Given the description of an element on the screen output the (x, y) to click on. 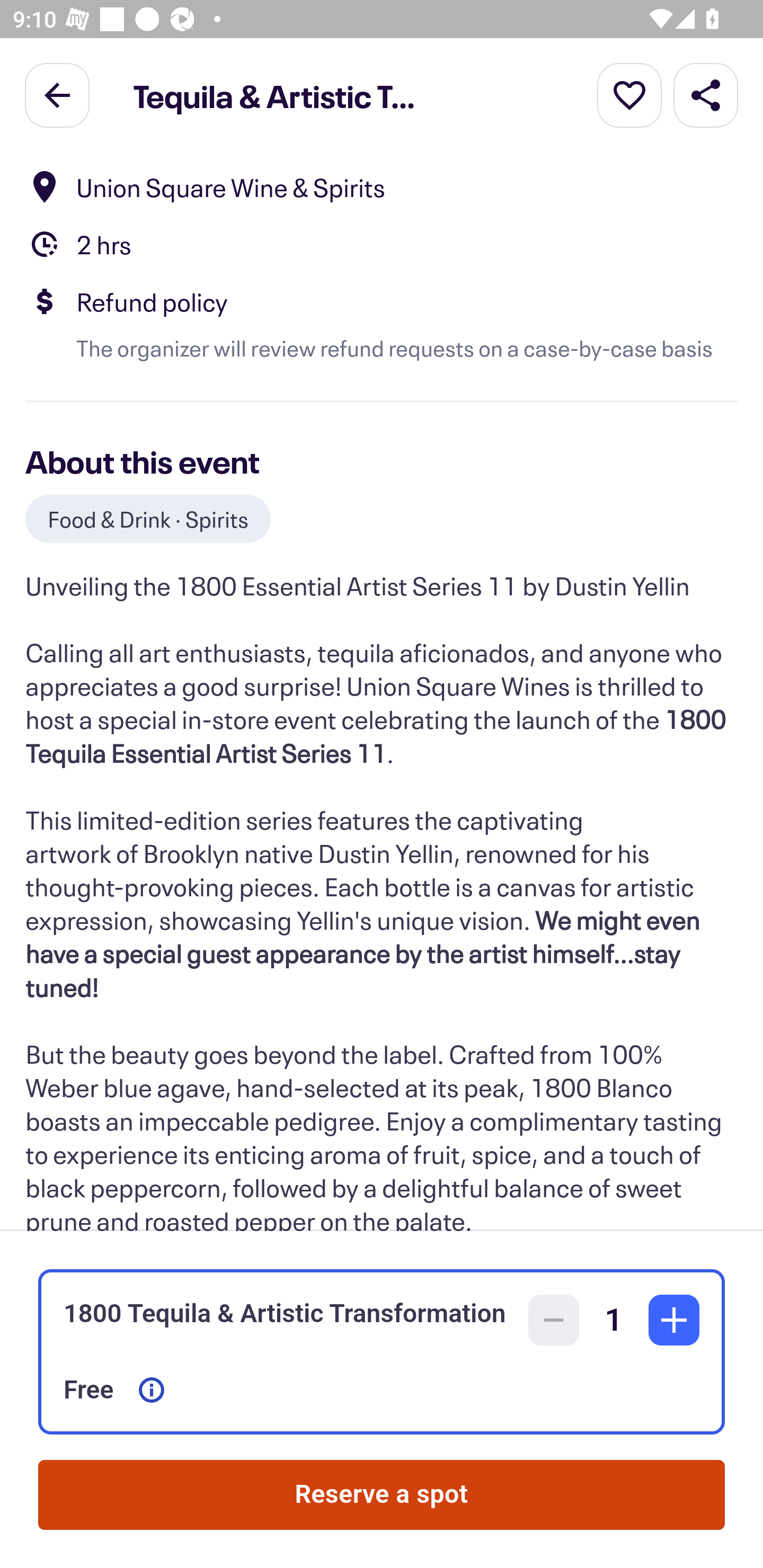
Back (57, 94)
More (629, 94)
Share (705, 94)
Location Union Square Wine & Spirits (381, 186)
Decrease (553, 1320)
Increase (673, 1320)
Show more information (151, 1389)
Reserve a spot (381, 1494)
